Given the description of an element on the screen output the (x, y) to click on. 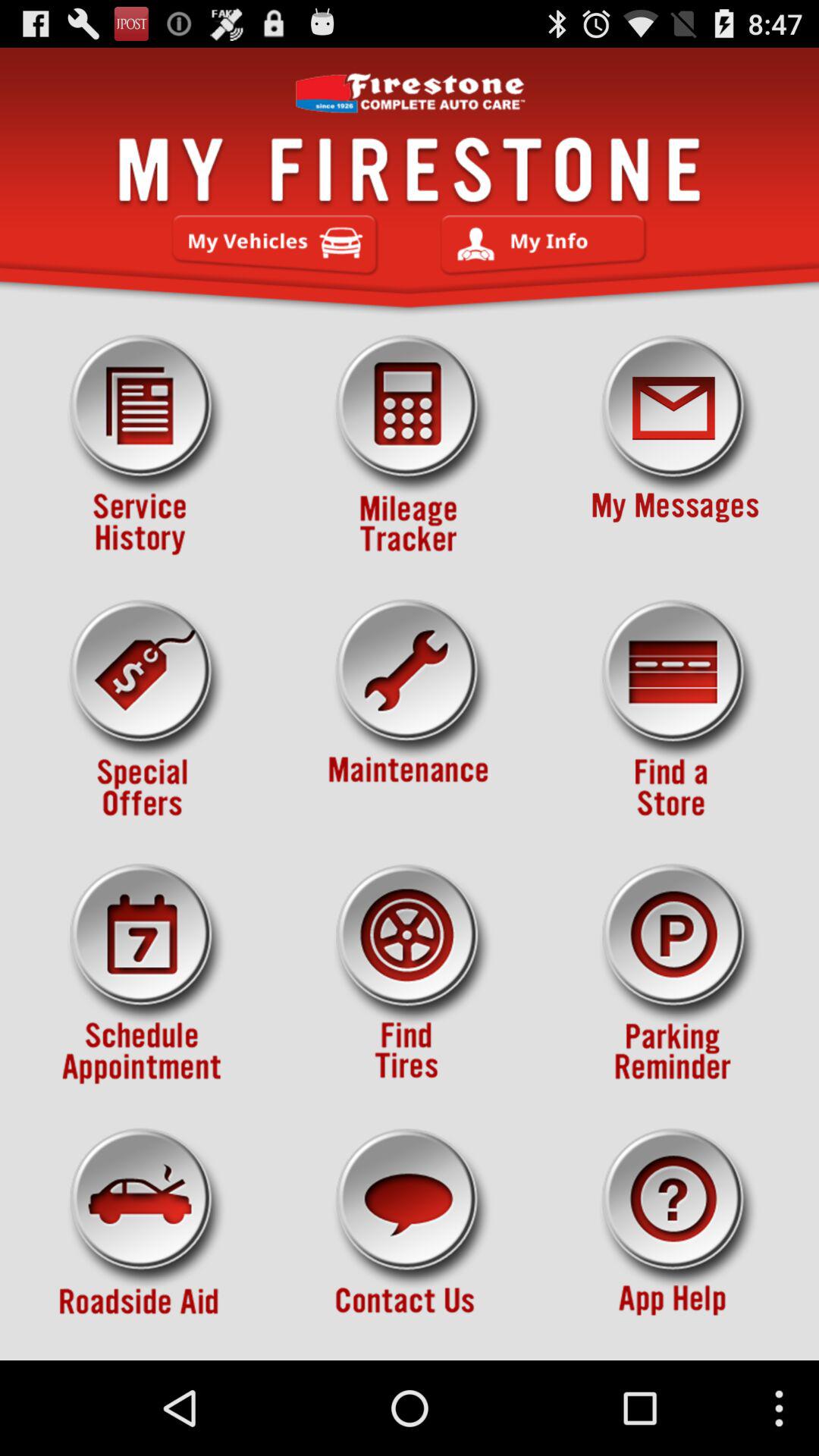
calculate the value (409, 445)
